Given the description of an element on the screen output the (x, y) to click on. 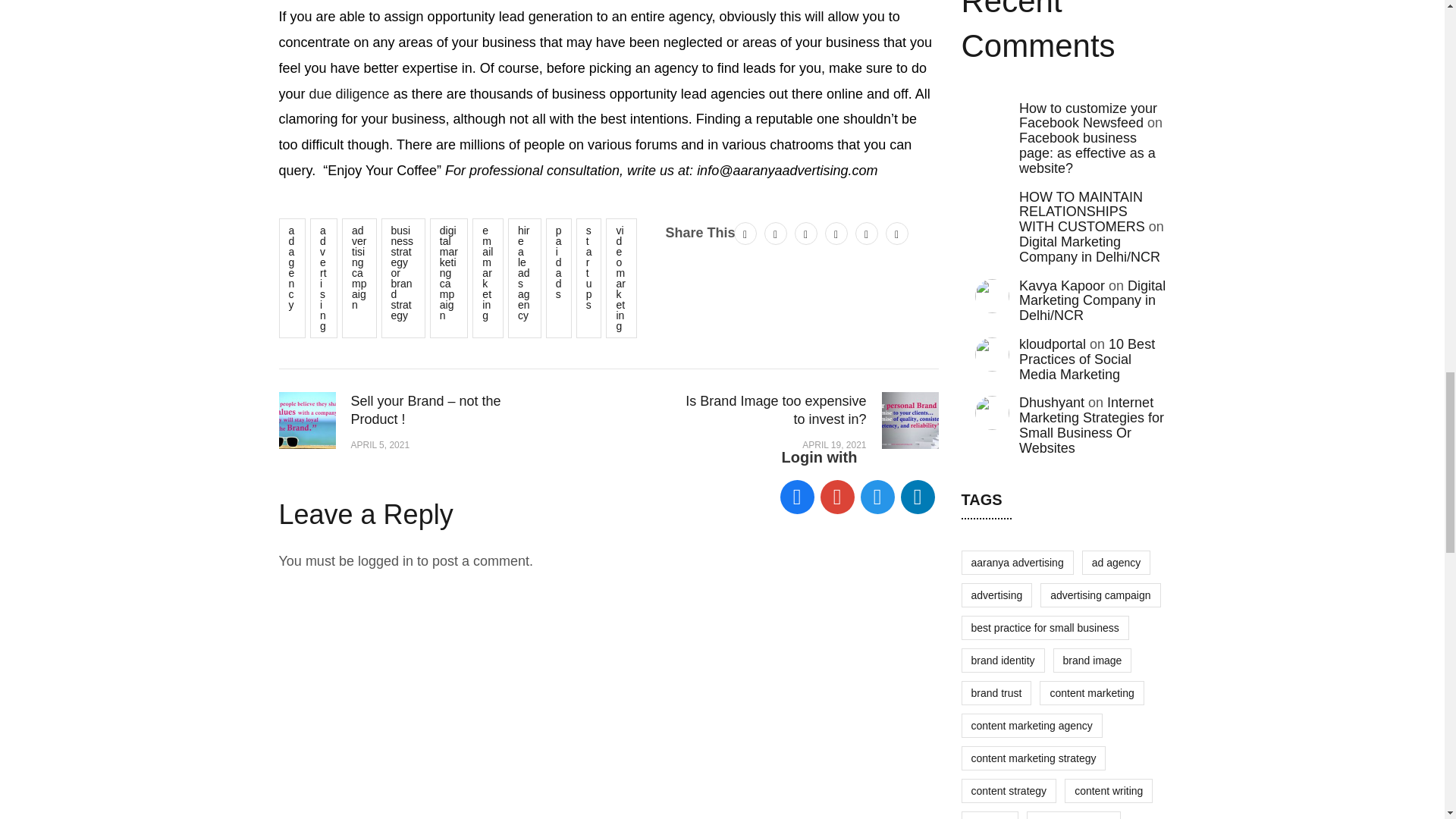
Facebook (775, 232)
Twitter (745, 232)
Pinterest (805, 232)
LinkedIn (836, 232)
Tumblr (866, 232)
Reddit (896, 232)
